Given the description of an element on the screen output the (x, y) to click on. 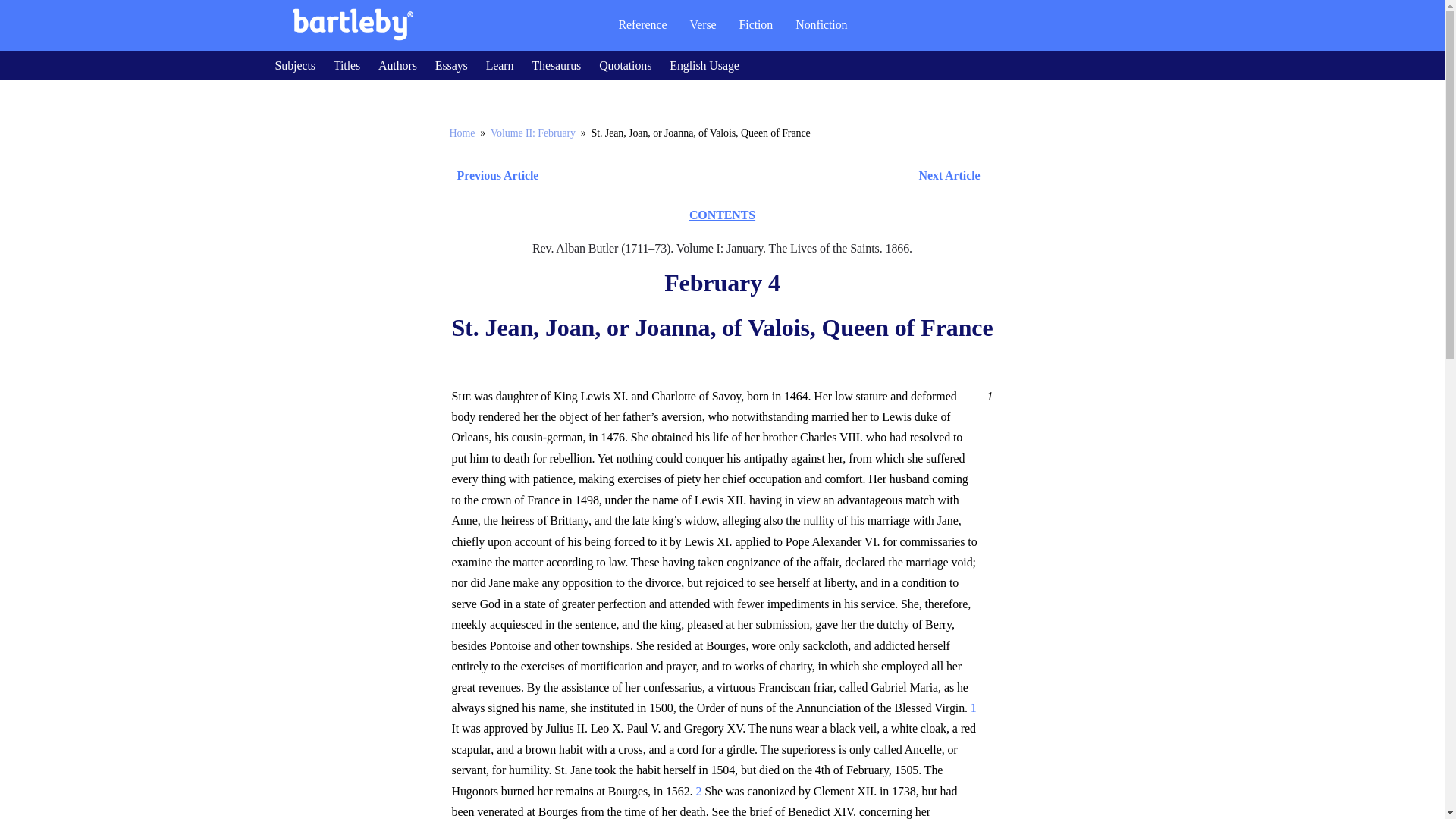
CONTENTS (721, 214)
  1 (986, 395)
Thesaurus (555, 65)
Learn (499, 65)
Authors (397, 65)
Volume II: February (532, 132)
Previous Article (493, 175)
Subjects (294, 65)
Reference (642, 24)
English Usage (704, 65)
Fiction (756, 24)
Titles (346, 65)
Quotations (624, 65)
Essays (451, 65)
Next Article (766, 175)
